Given the description of an element on the screen output the (x, y) to click on. 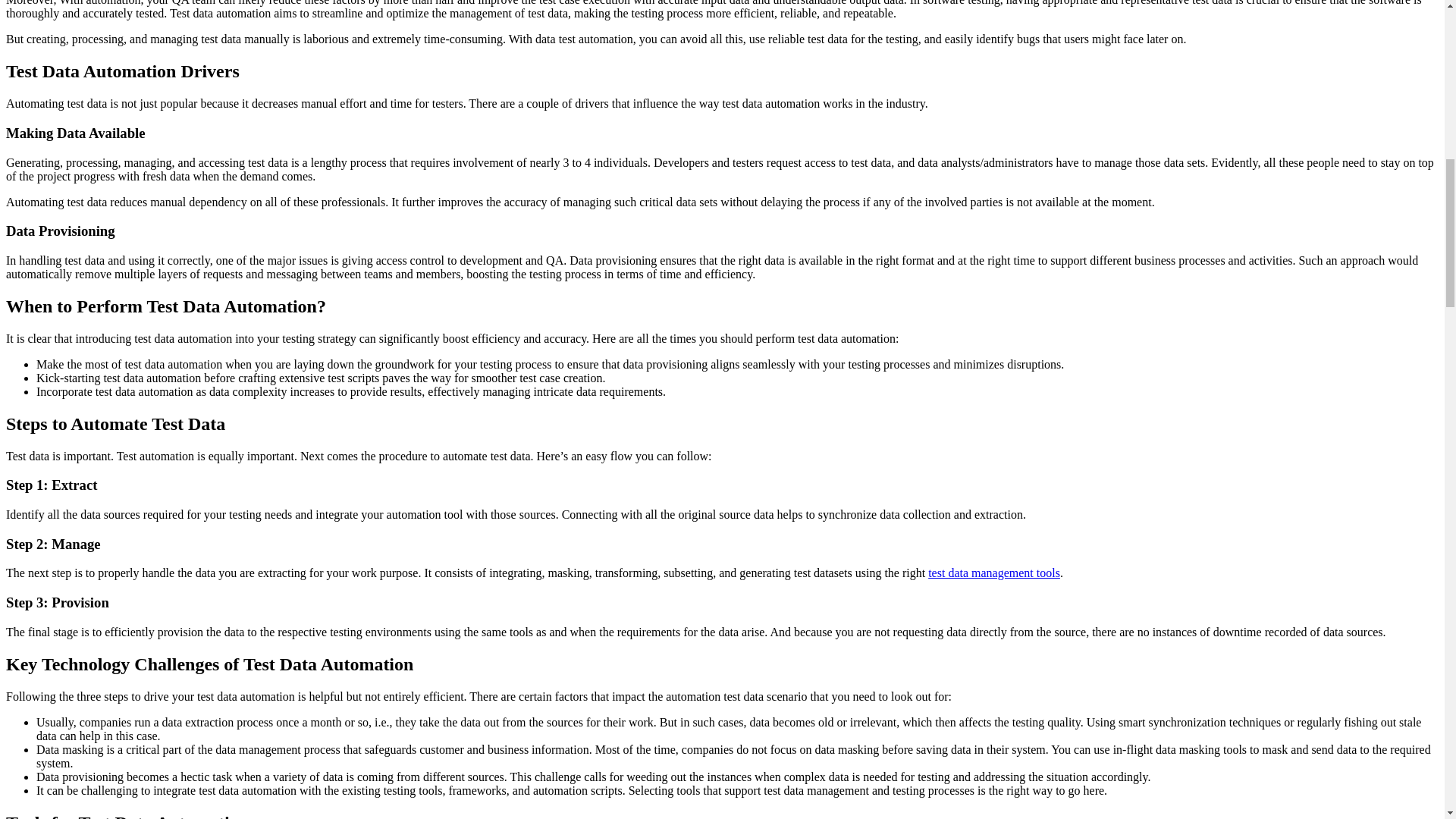
test data management tools (993, 572)
